Given the description of an element on the screen output the (x, y) to click on. 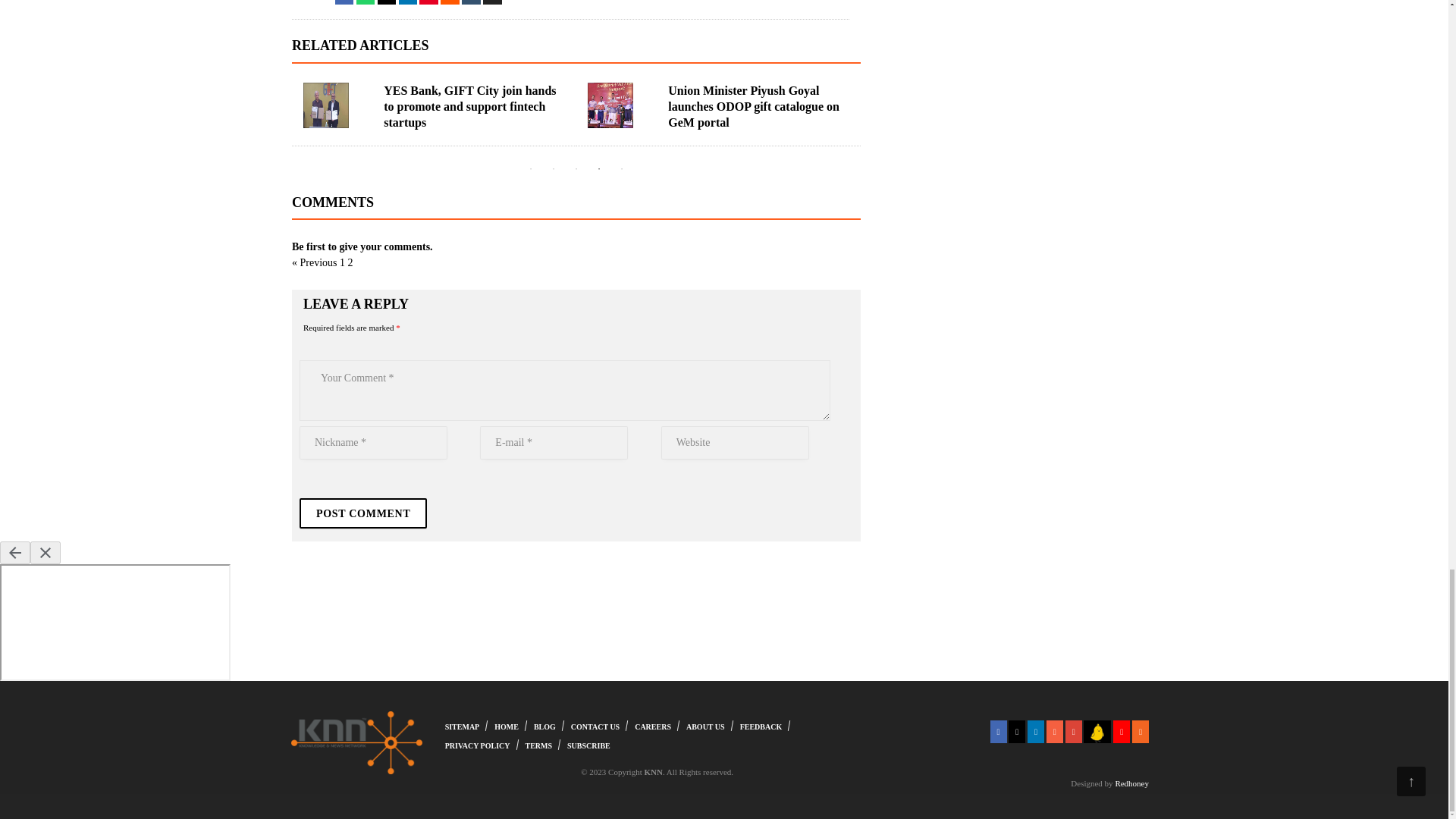
Post Comment (362, 512)
